Given the description of an element on the screen output the (x, y) to click on. 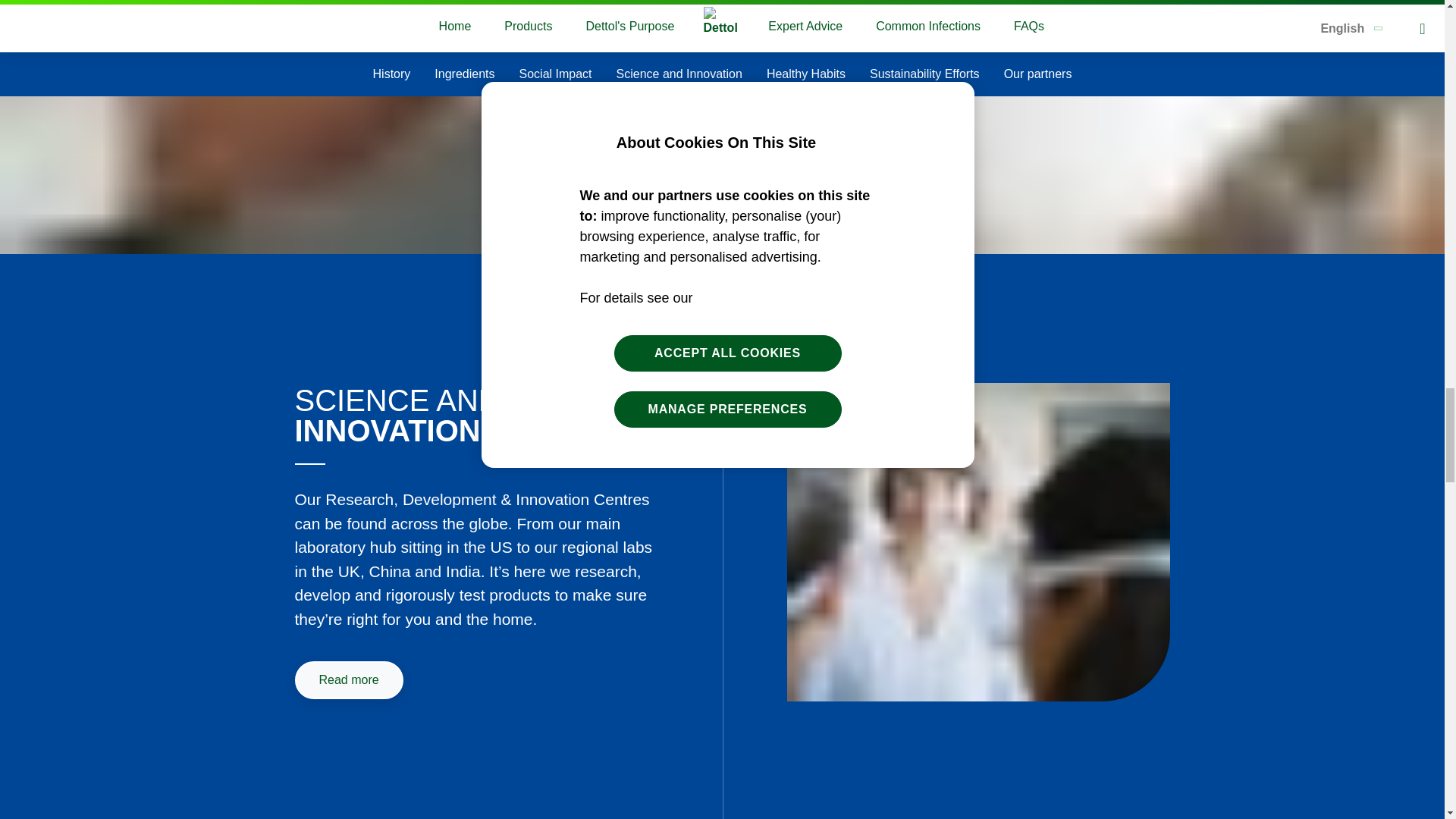
Read more (348, 679)
